Given the description of an element on the screen output the (x, y) to click on. 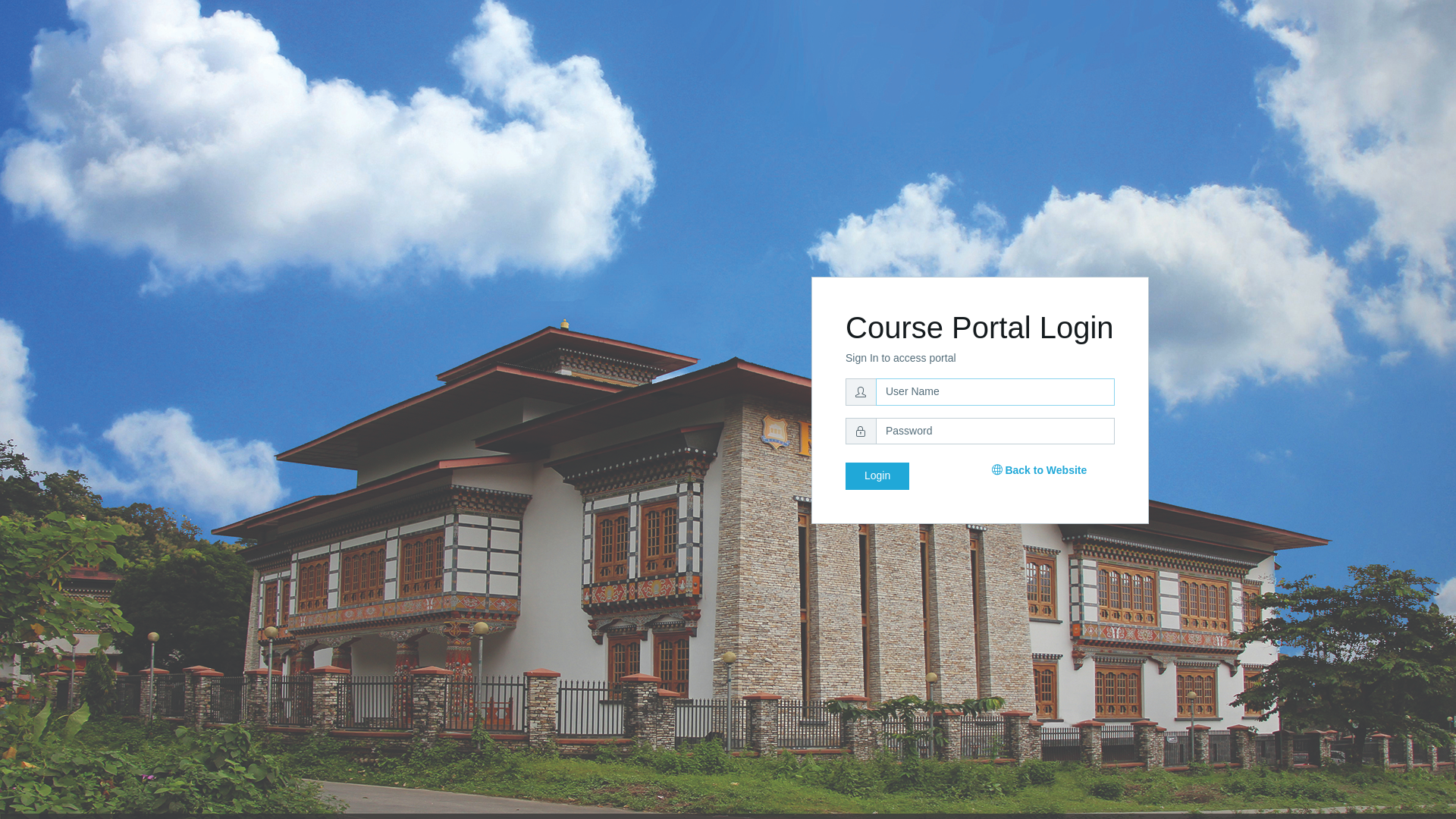
Login Element type: text (877, 475)
Back to Website Element type: text (1039, 470)
